Given the description of an element on the screen output the (x, y) to click on. 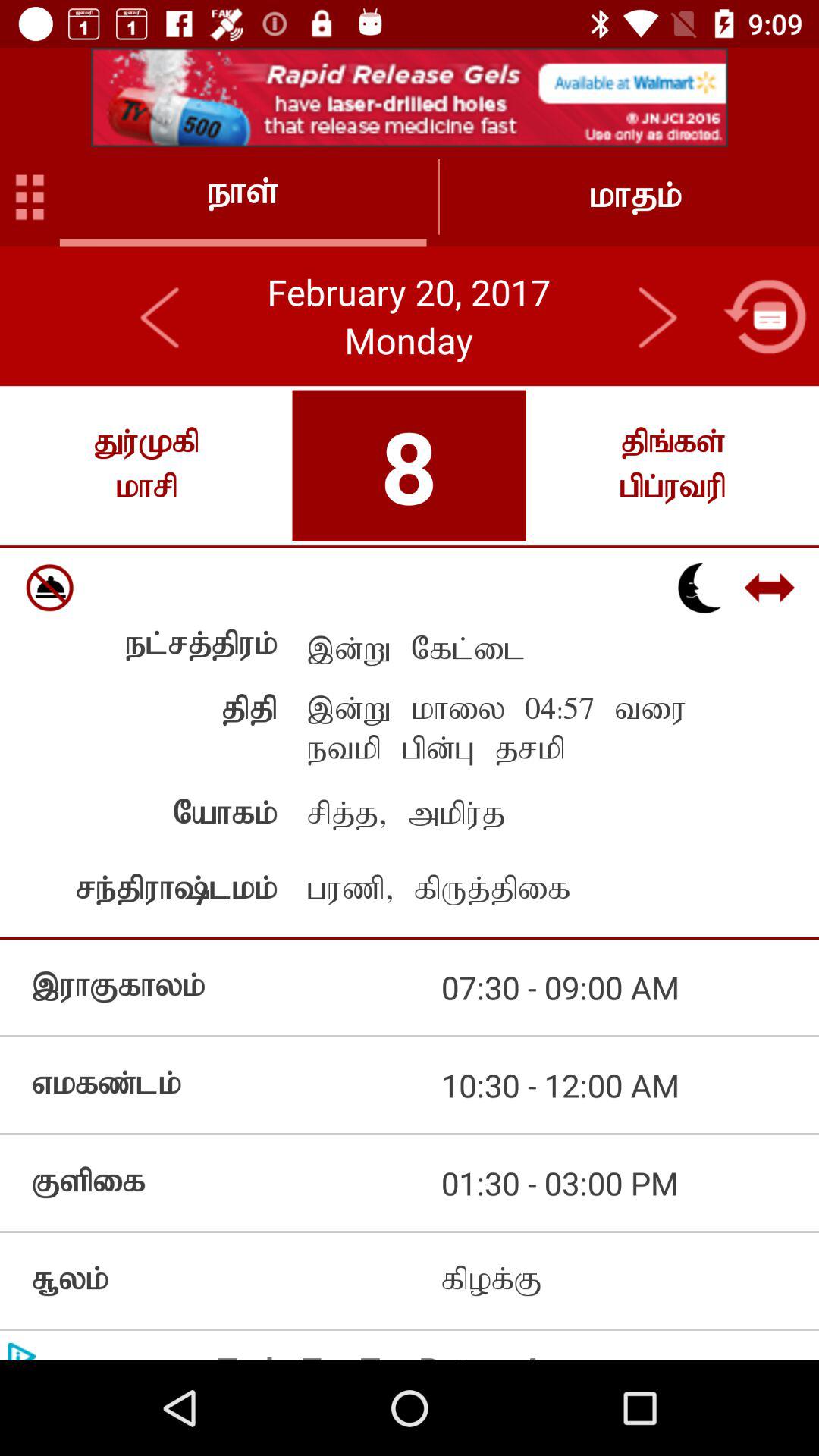
this button in next page (656, 316)
